Given the description of an element on the screen output the (x, y) to click on. 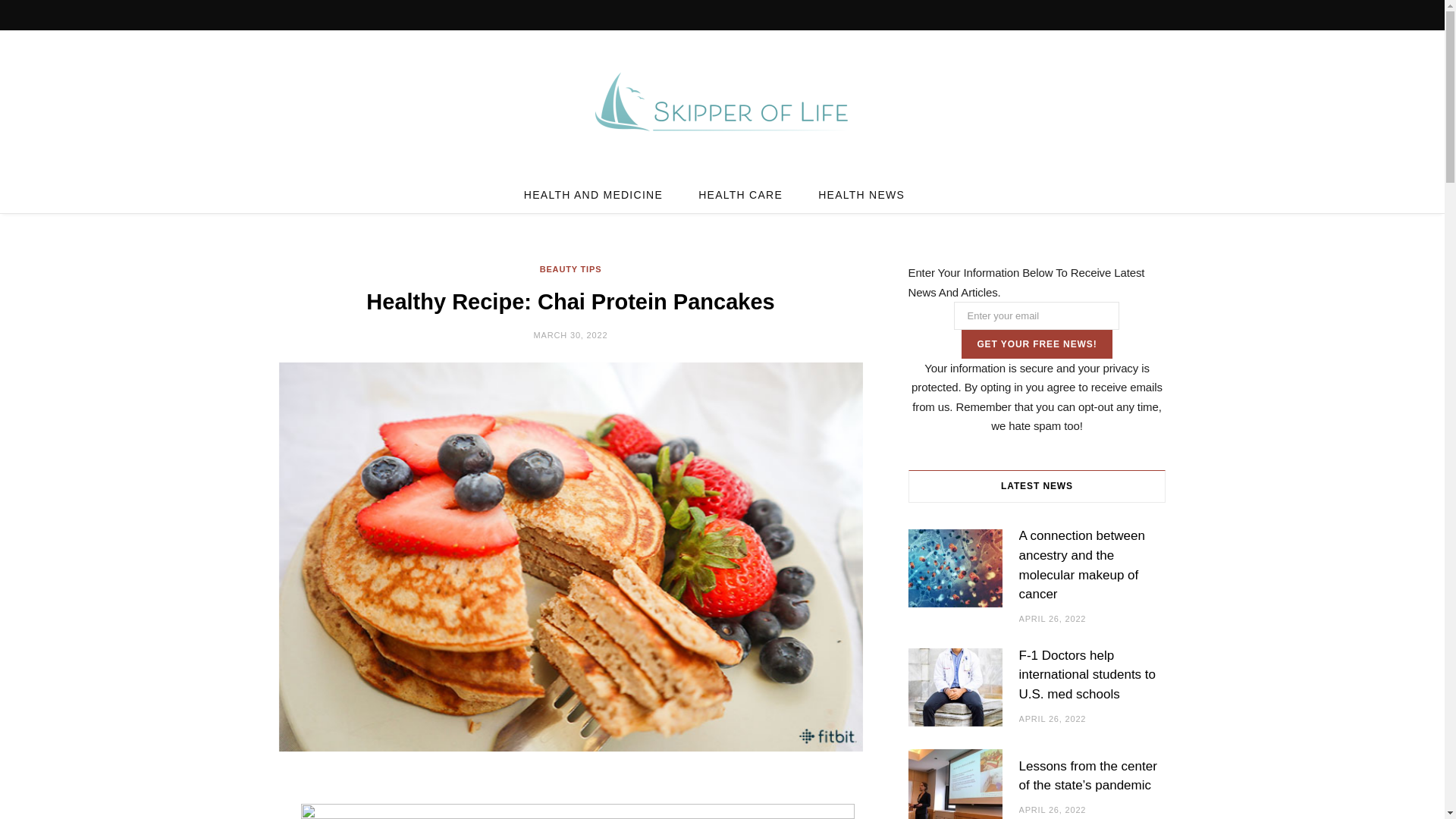
BEAUTY TIPS (571, 269)
Get Your Free News! (1036, 344)
HEALTH AND MEDICINE (593, 194)
HEALTH CARE (739, 194)
Enter your email (1036, 316)
MARCH 30, 2022 (571, 334)
HEALTH NEWS (861, 194)
APRIL 26, 2022 (1052, 618)
